Given the description of an element on the screen output the (x, y) to click on. 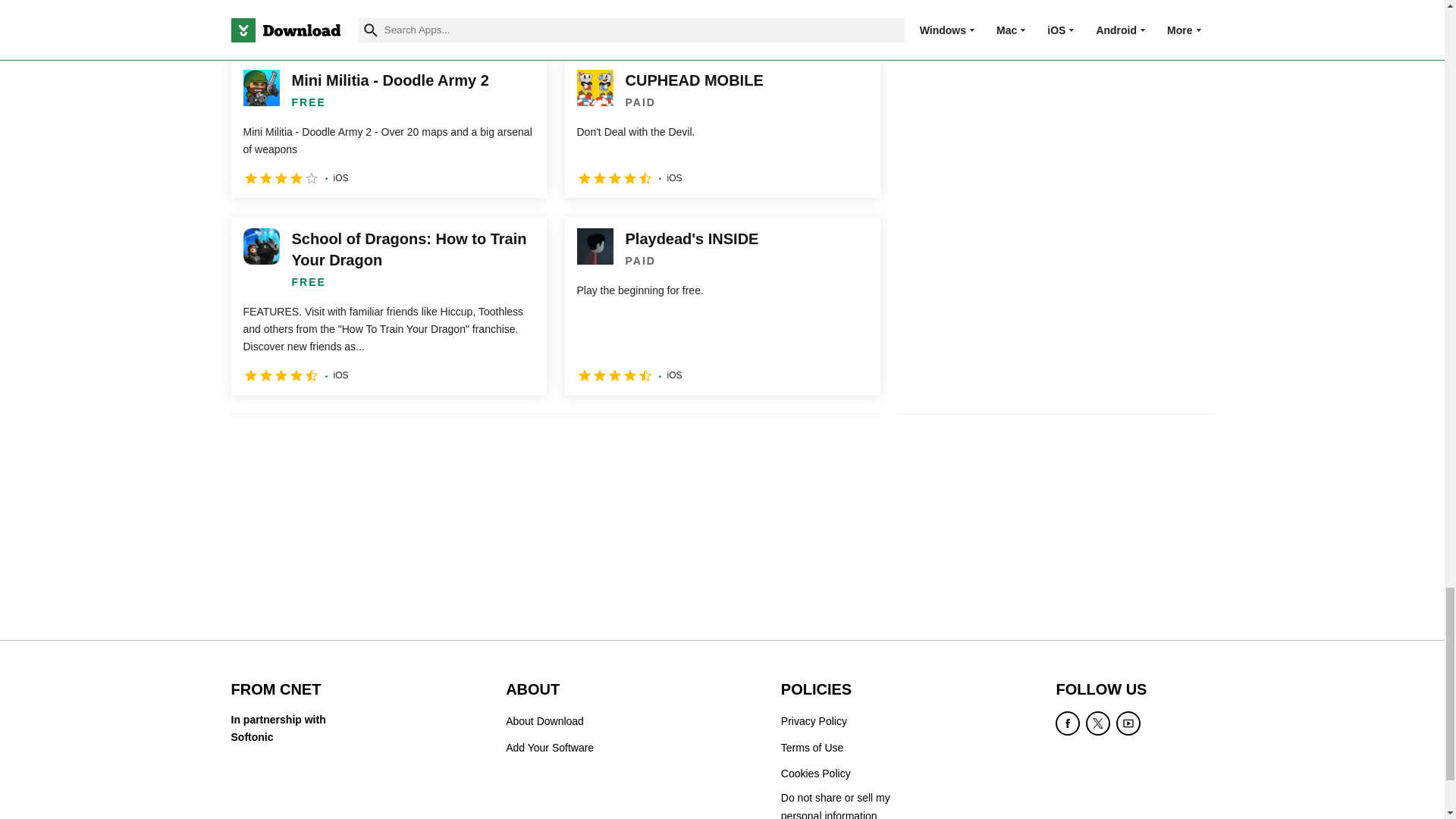
School of Dragons: How to Train Your Dragon (388, 305)
Become a Facebook fan of Download.com (1067, 723)
CUPHEAD MOBILE (721, 127)
Mini Militia - Doodle Army 2 (388, 127)
Playdead's INSIDE (721, 305)
